Given the description of an element on the screen output the (x, y) to click on. 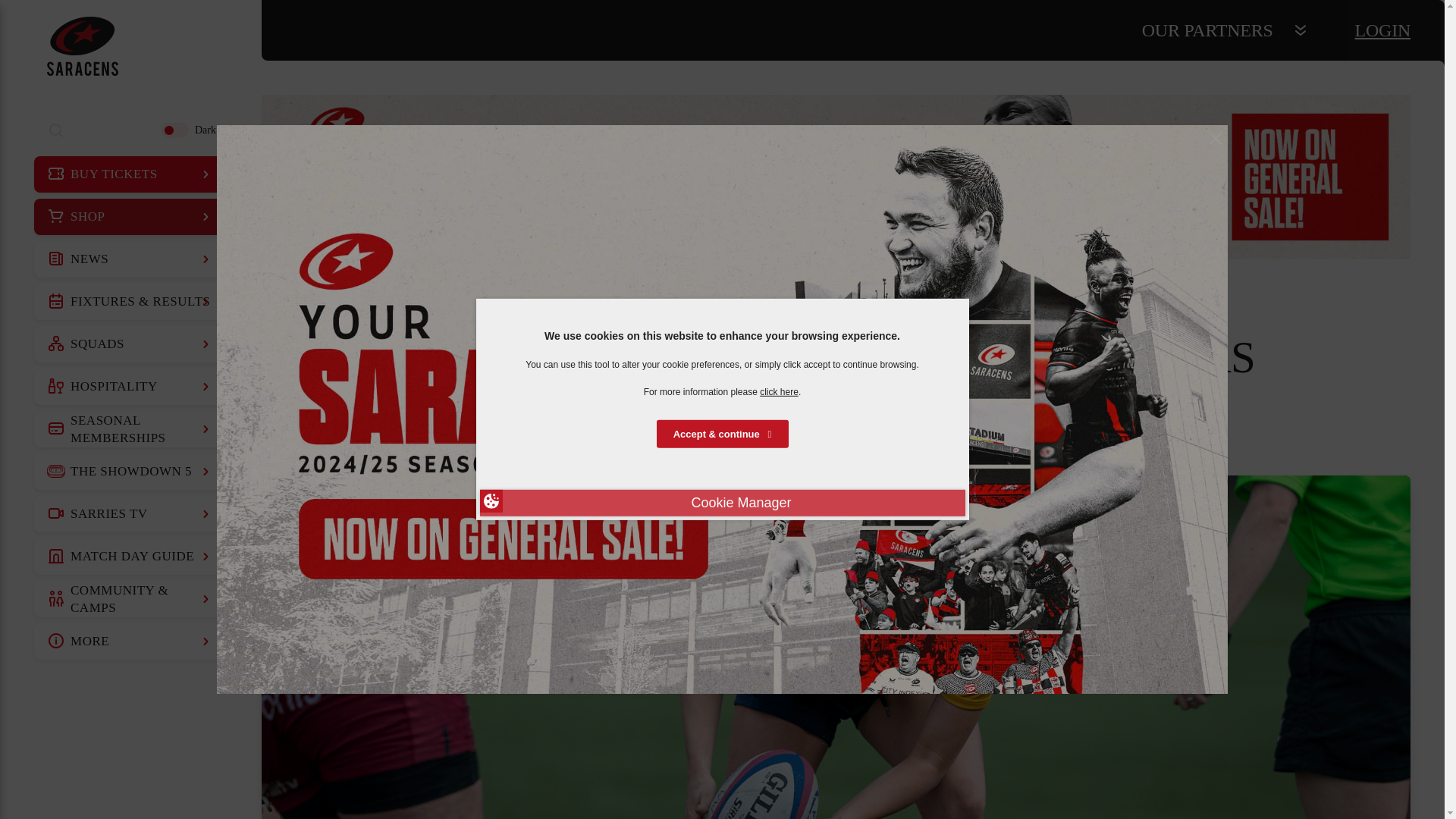
MATCH DAY GUIDE (130, 556)
SEASONAL MEMBERSHIPS (130, 429)
Search (55, 130)
BUY TICKETS (130, 174)
LOGIN (1382, 29)
SARRIES TV (130, 514)
NEWS (130, 258)
Cookie Manager (721, 502)
THE SHOWDOWN 5 (130, 471)
HOSPITALITY (130, 386)
SHOP (130, 217)
SQUADS (130, 343)
MORE (130, 641)
